Given the description of an element on the screen output the (x, y) to click on. 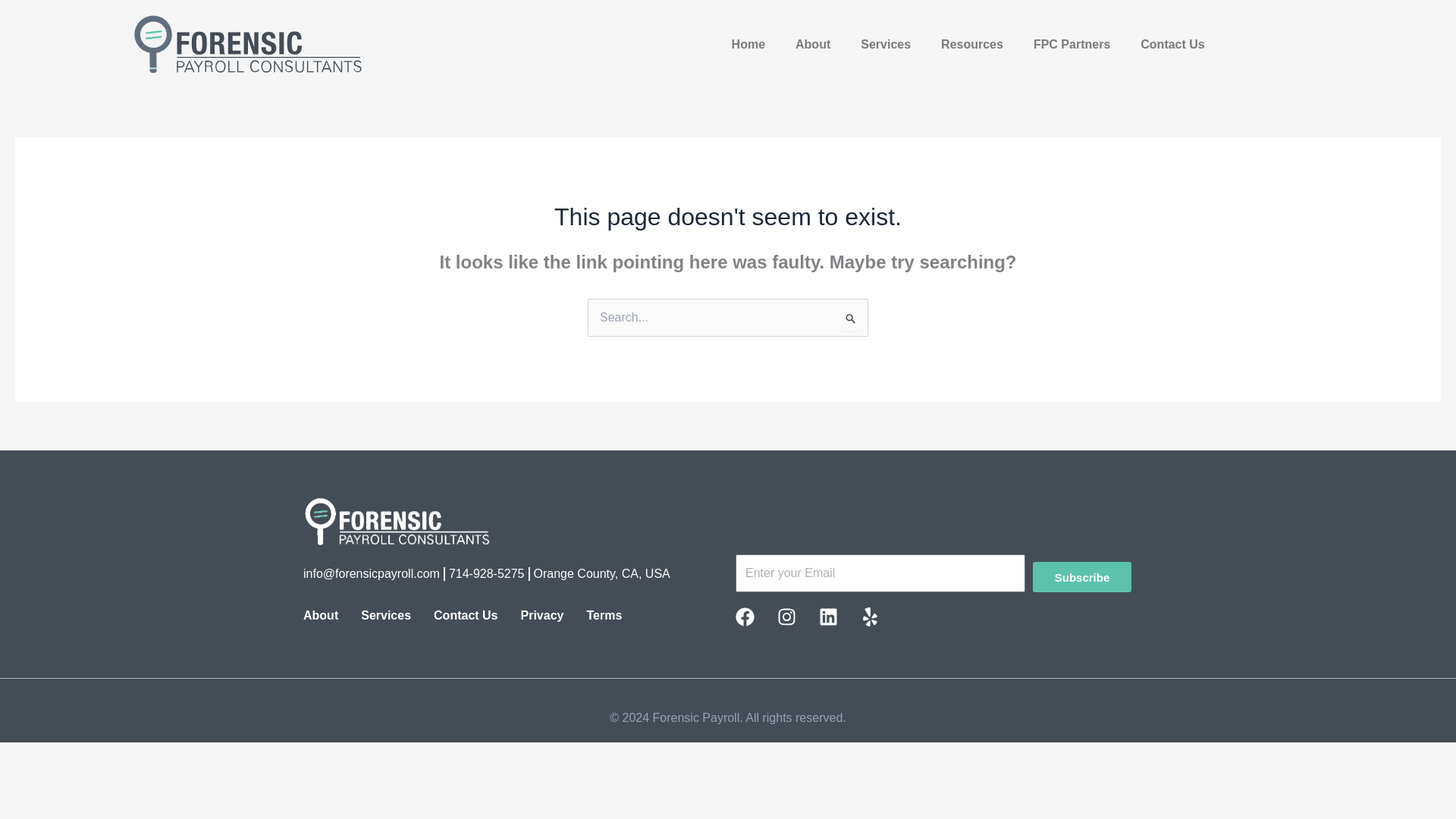
Resources (971, 44)
Linkedin (837, 626)
FPC Partners (1071, 44)
Services (385, 615)
Yelp (879, 626)
Home (748, 44)
Contact Us (1172, 44)
Subscribe (1081, 576)
Privacy (541, 615)
About (319, 615)
